Given the description of an element on the screen output the (x, y) to click on. 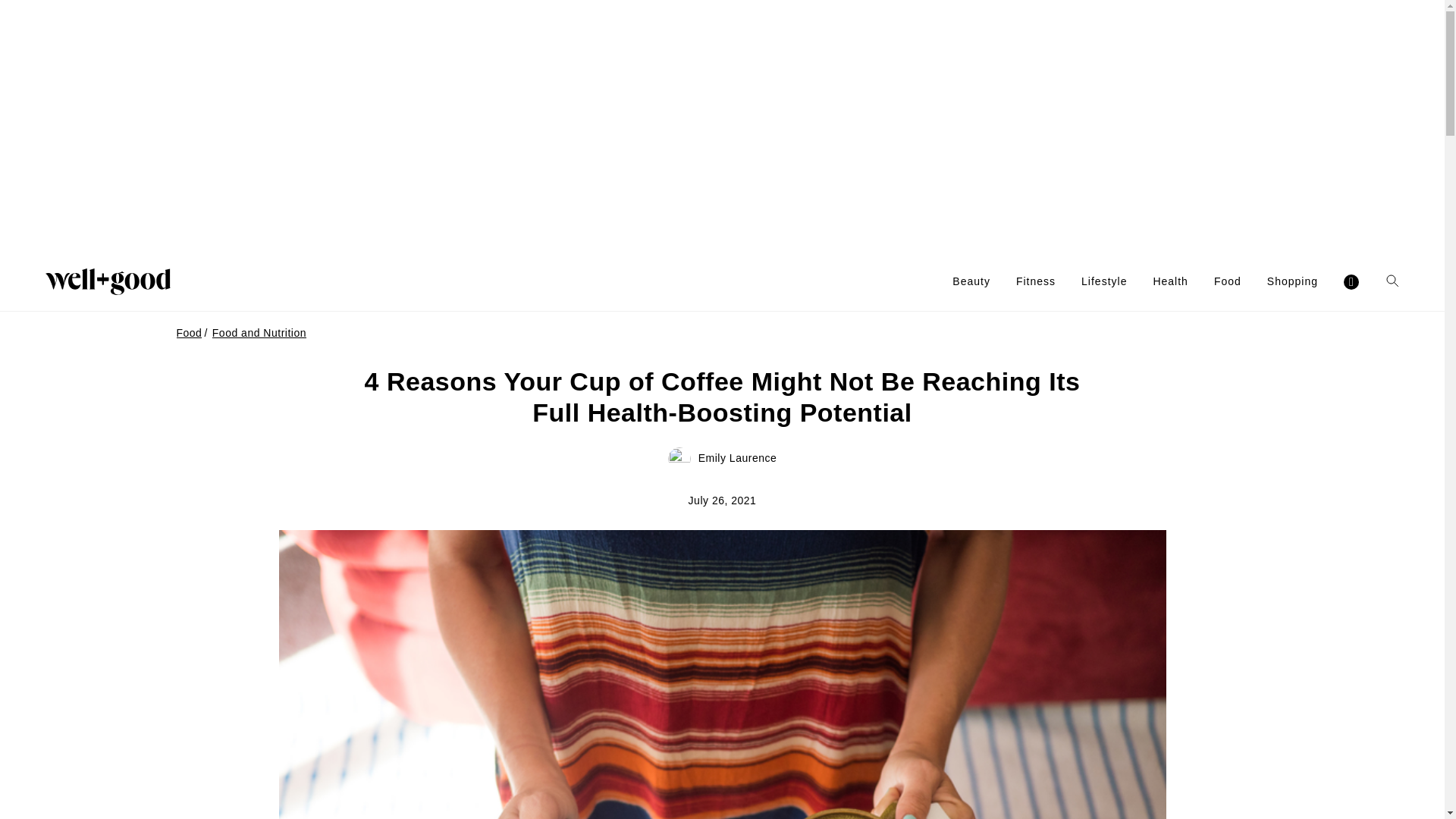
Food (1227, 281)
Health (1170, 281)
Lifestyle (1103, 281)
Beauty (971, 281)
Fitness (1035, 281)
Shopping (1291, 281)
